Given the description of an element on the screen output the (x, y) to click on. 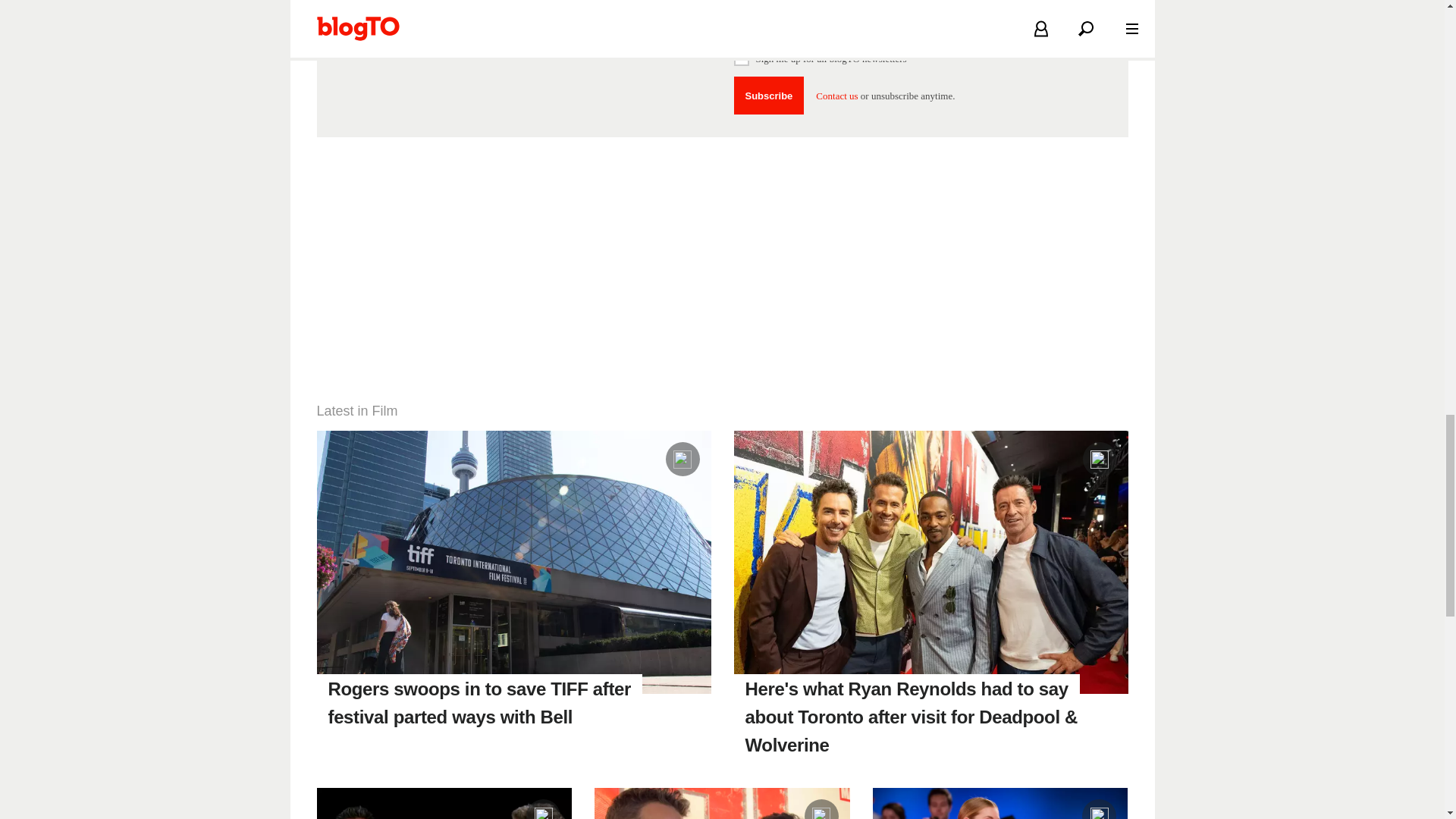
Subscribe (769, 95)
